Given the description of an element on the screen output the (x, y) to click on. 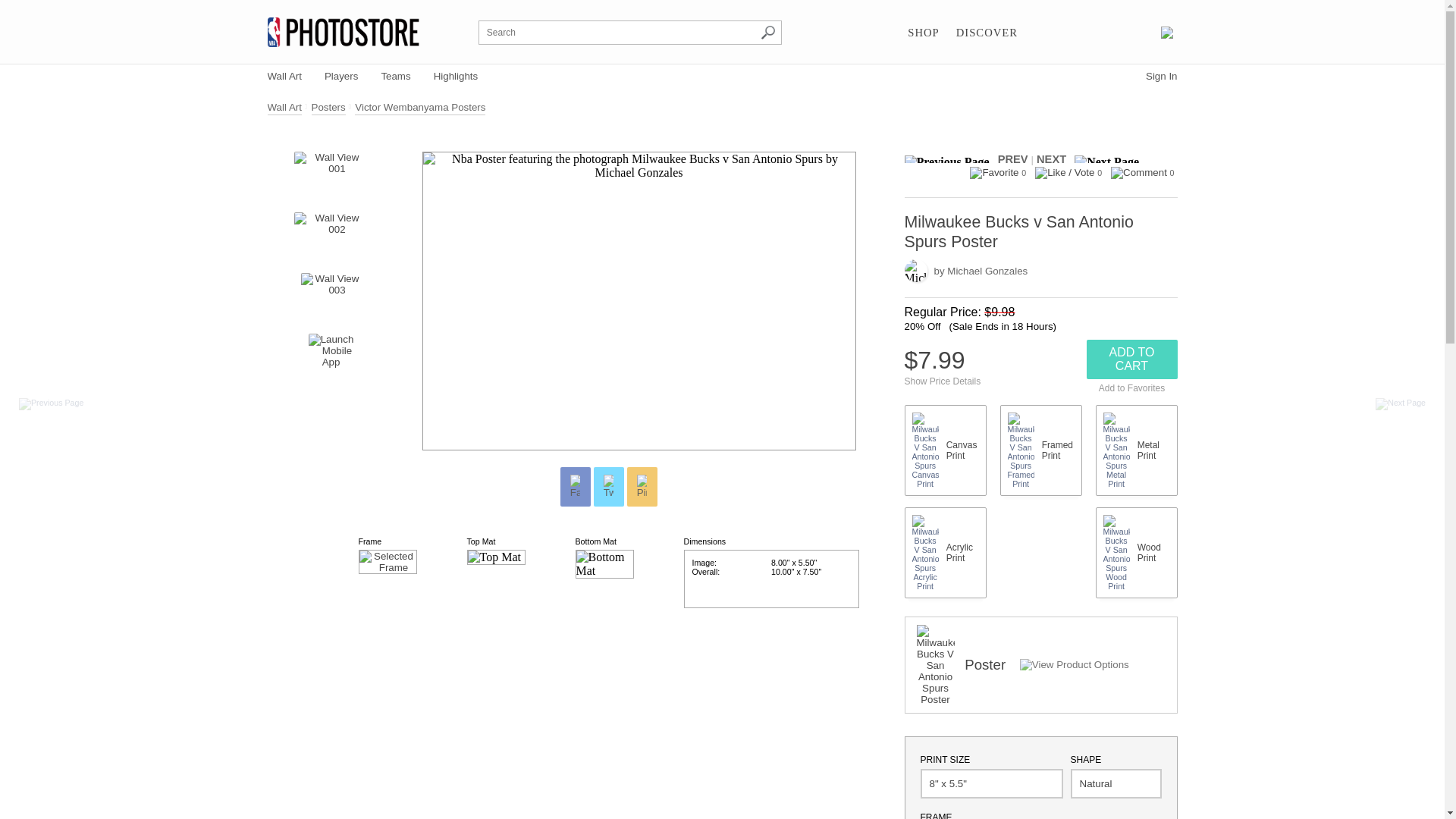
Wall View 001 (330, 174)
SHOP (922, 32)
Wall View 003 (330, 295)
DISCOVER (987, 32)
Launch Mobile App (330, 356)
Selected Frame (387, 561)
Search (767, 32)
Bottom Mat (604, 563)
Top Mat (496, 557)
Comment (1138, 173)
